Given the description of an element on the screen output the (x, y) to click on. 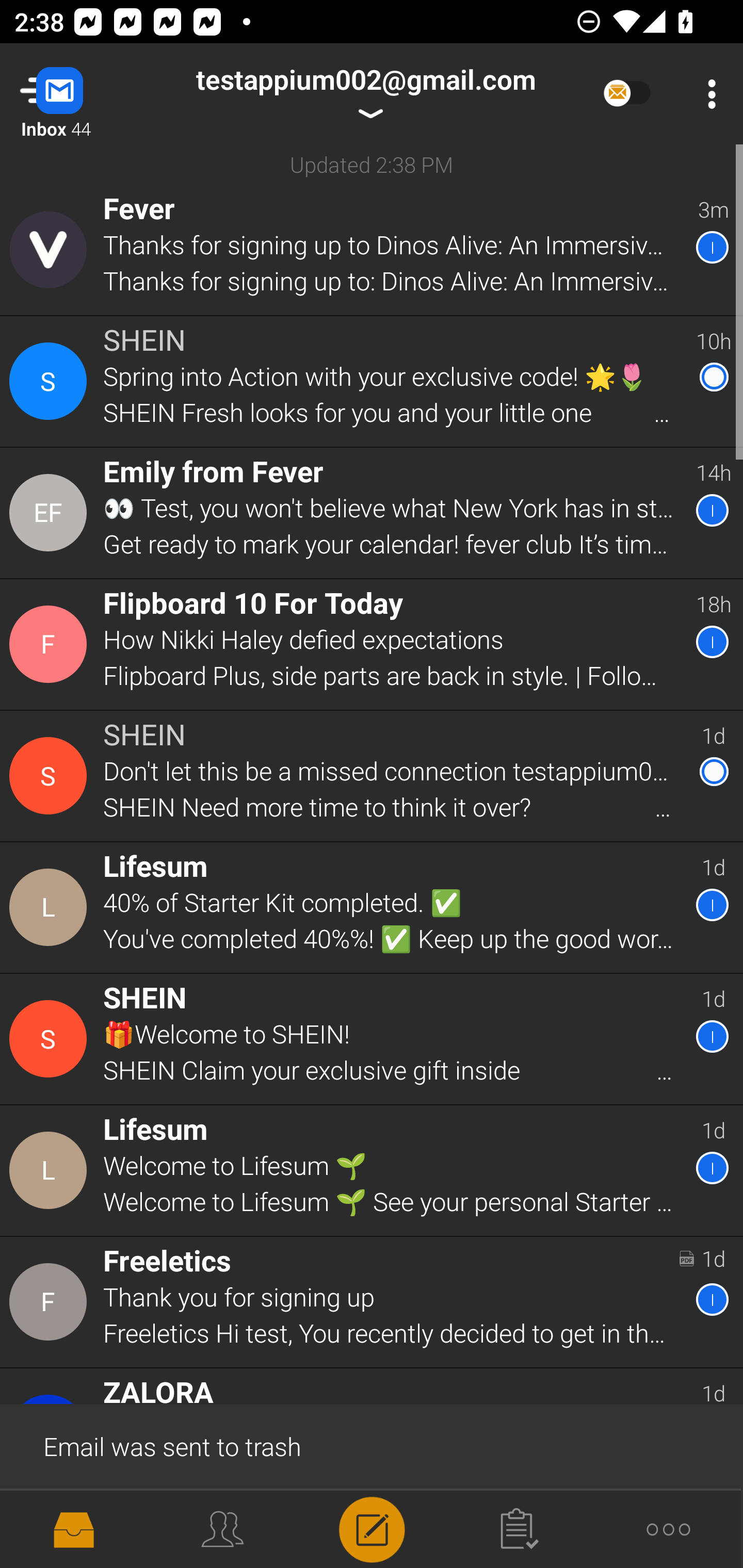
Navigate up (81, 93)
testappium002@gmail.com (365, 93)
More Options (706, 93)
Updated 2:38 PM (371, 164)
Contact Details (50, 250)
Contact Details (50, 381)
Contact Details (50, 513)
Contact Details (50, 644)
Contact Details (50, 776)
Contact Details (50, 907)
Contact Details (50, 1038)
Contact Details (50, 1170)
Contact Details (50, 1302)
Email was sent to trash (371, 1445)
